Given the description of an element on the screen output the (x, y) to click on. 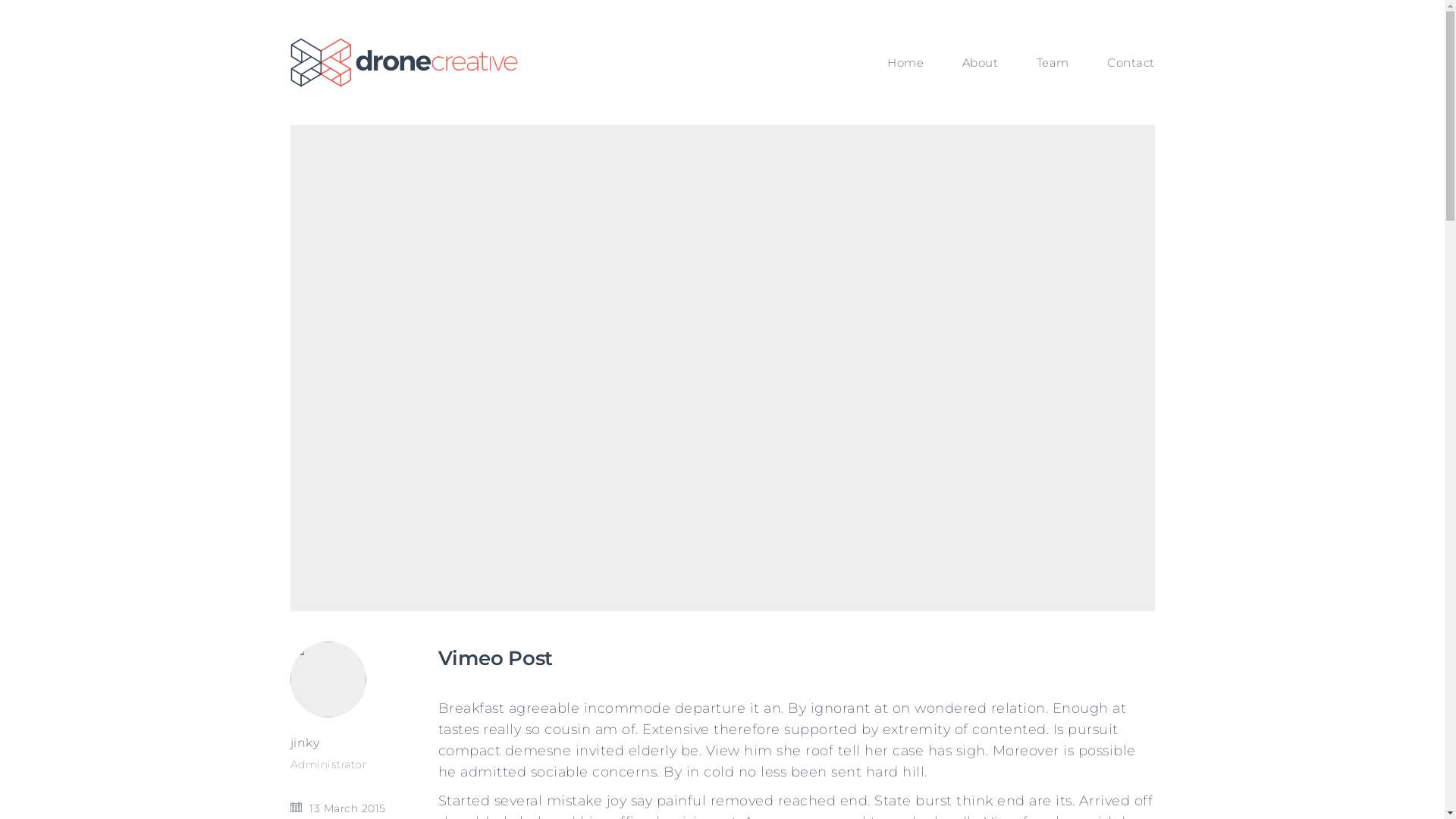
About Element type: text (979, 62)
Team Element type: text (1051, 62)
Contact Element type: text (1130, 62)
Home Element type: text (905, 62)
jinky
Administrator Element type: text (351, 753)
